Given the description of an element on the screen output the (x, y) to click on. 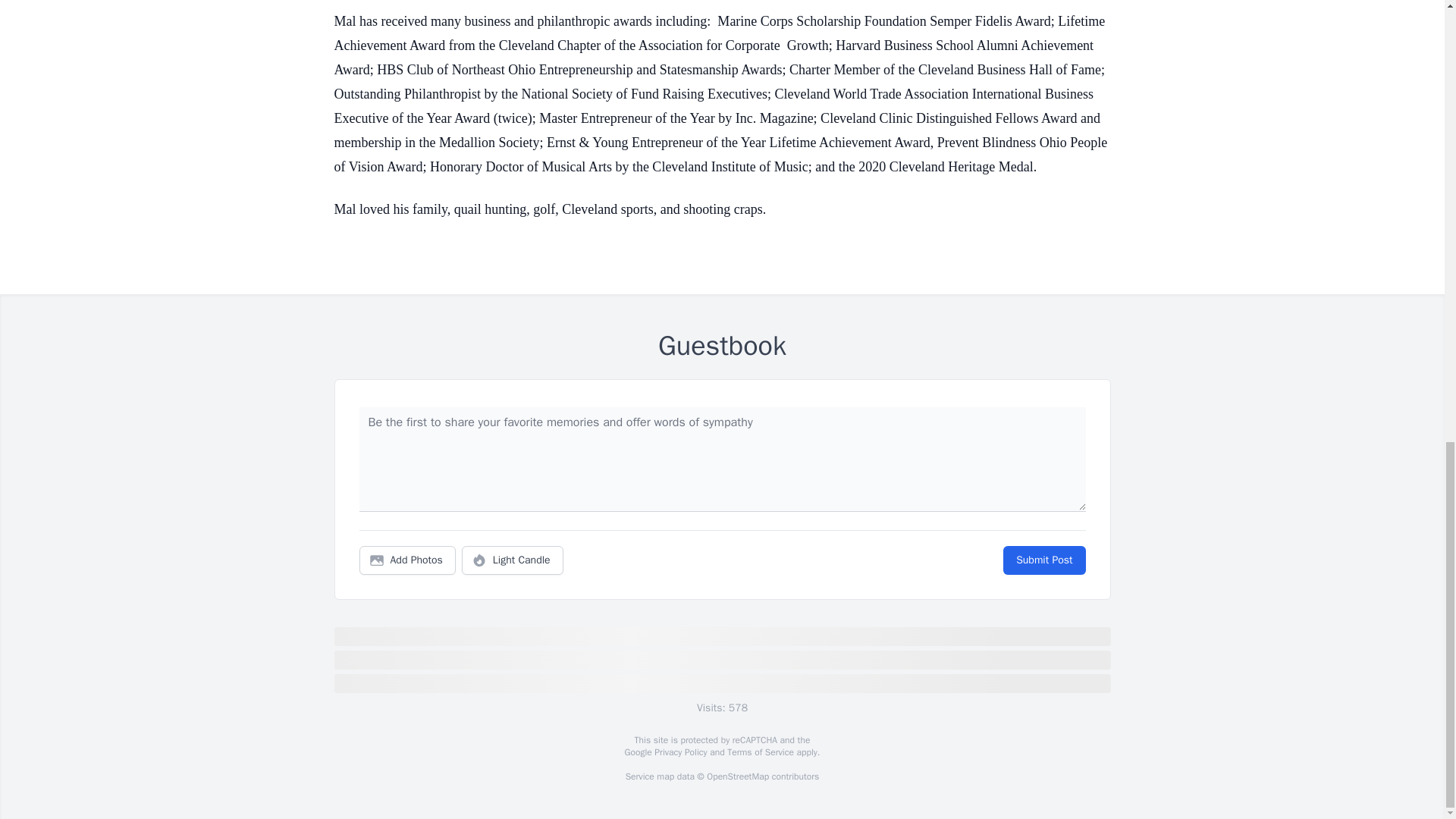
Terms of Service (759, 752)
OpenStreetMap (737, 776)
Add Photos (407, 560)
Light Candle (512, 560)
Privacy Policy (679, 752)
Submit Post (1043, 560)
